Given the description of an element on the screen output the (x, y) to click on. 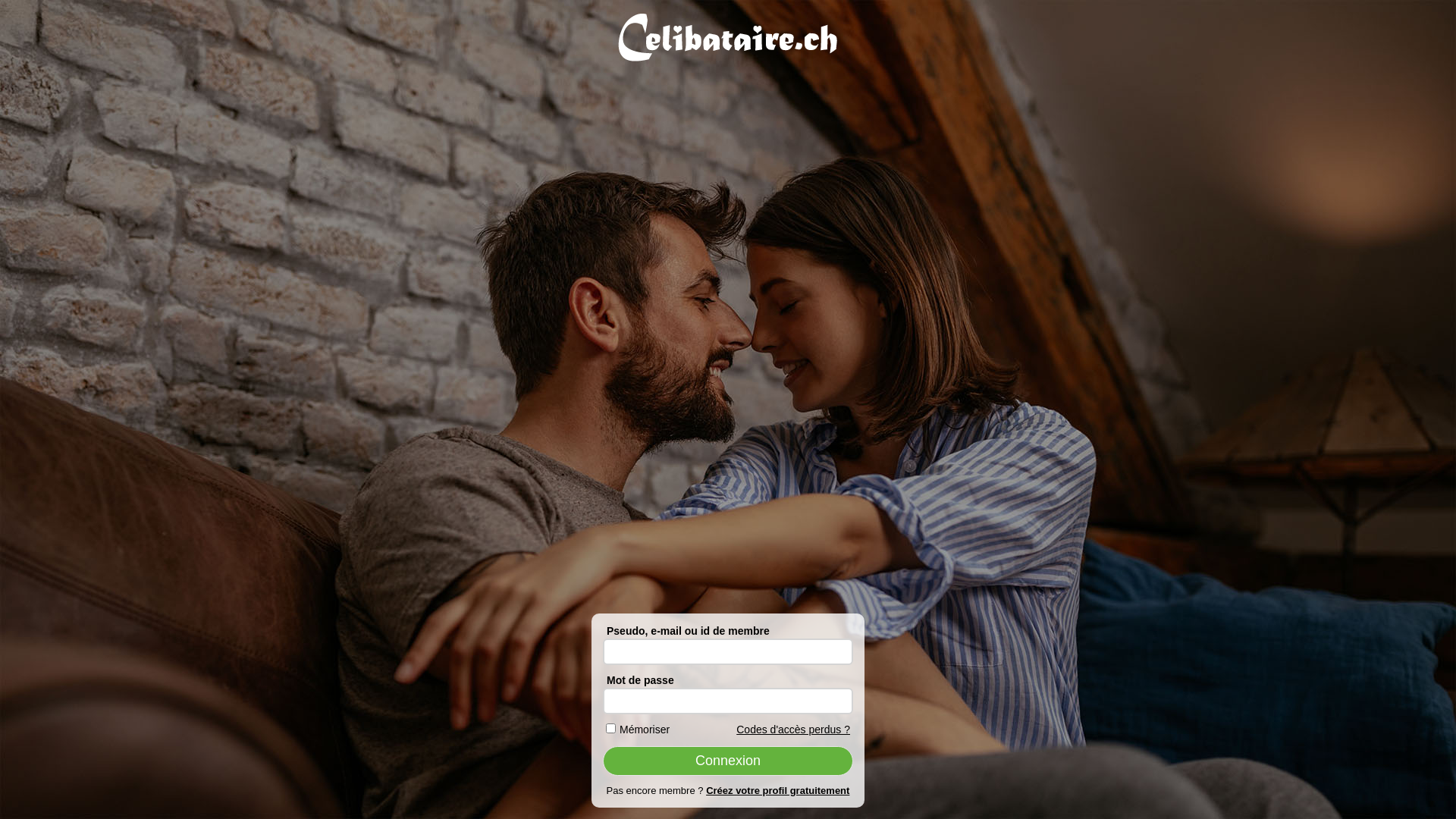
Connexion Element type: text (727, 760)
